Given the description of an element on the screen output the (x, y) to click on. 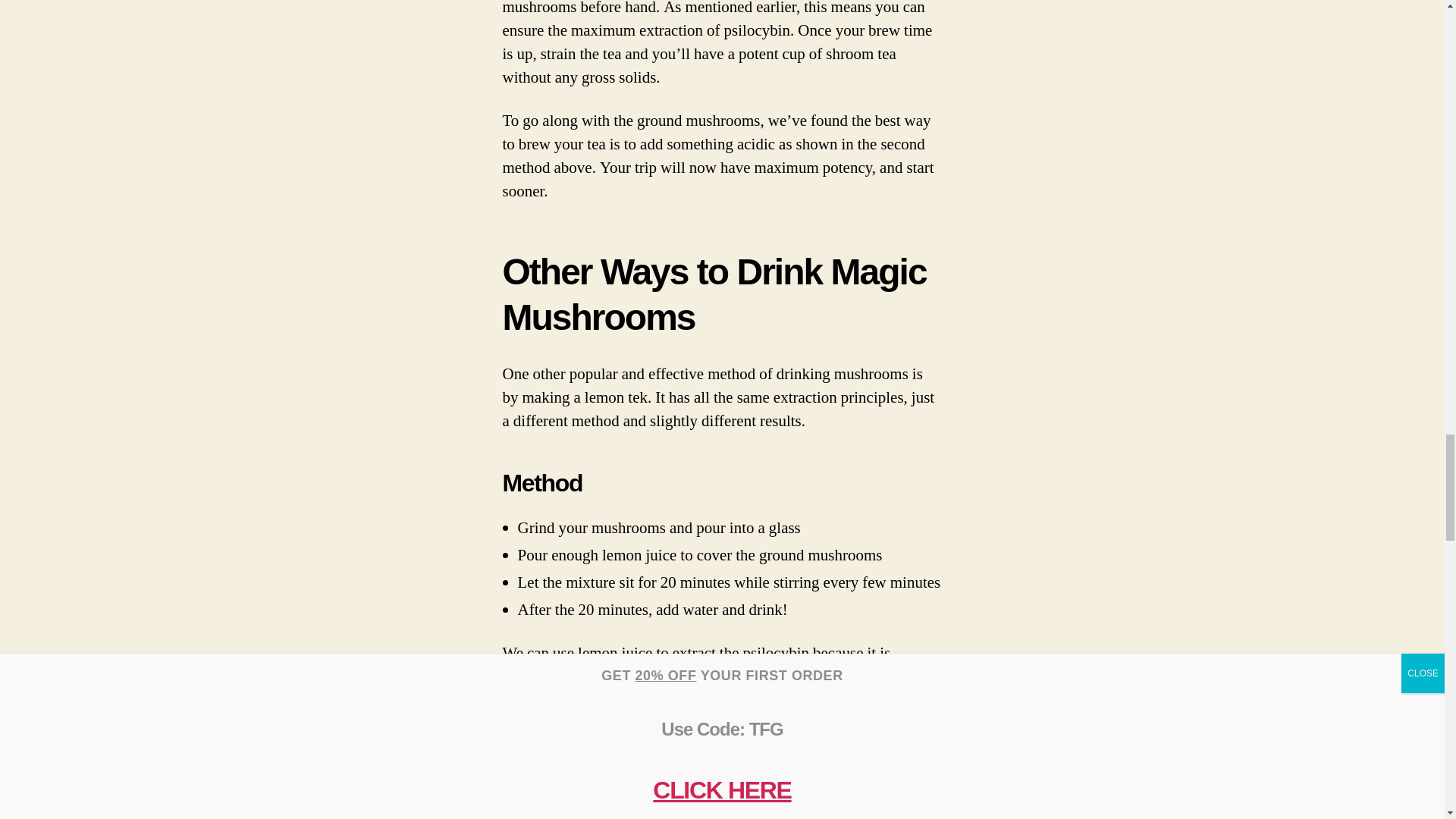
change of psilocybin to psilocin (603, 700)
